Given the description of an element on the screen output the (x, y) to click on. 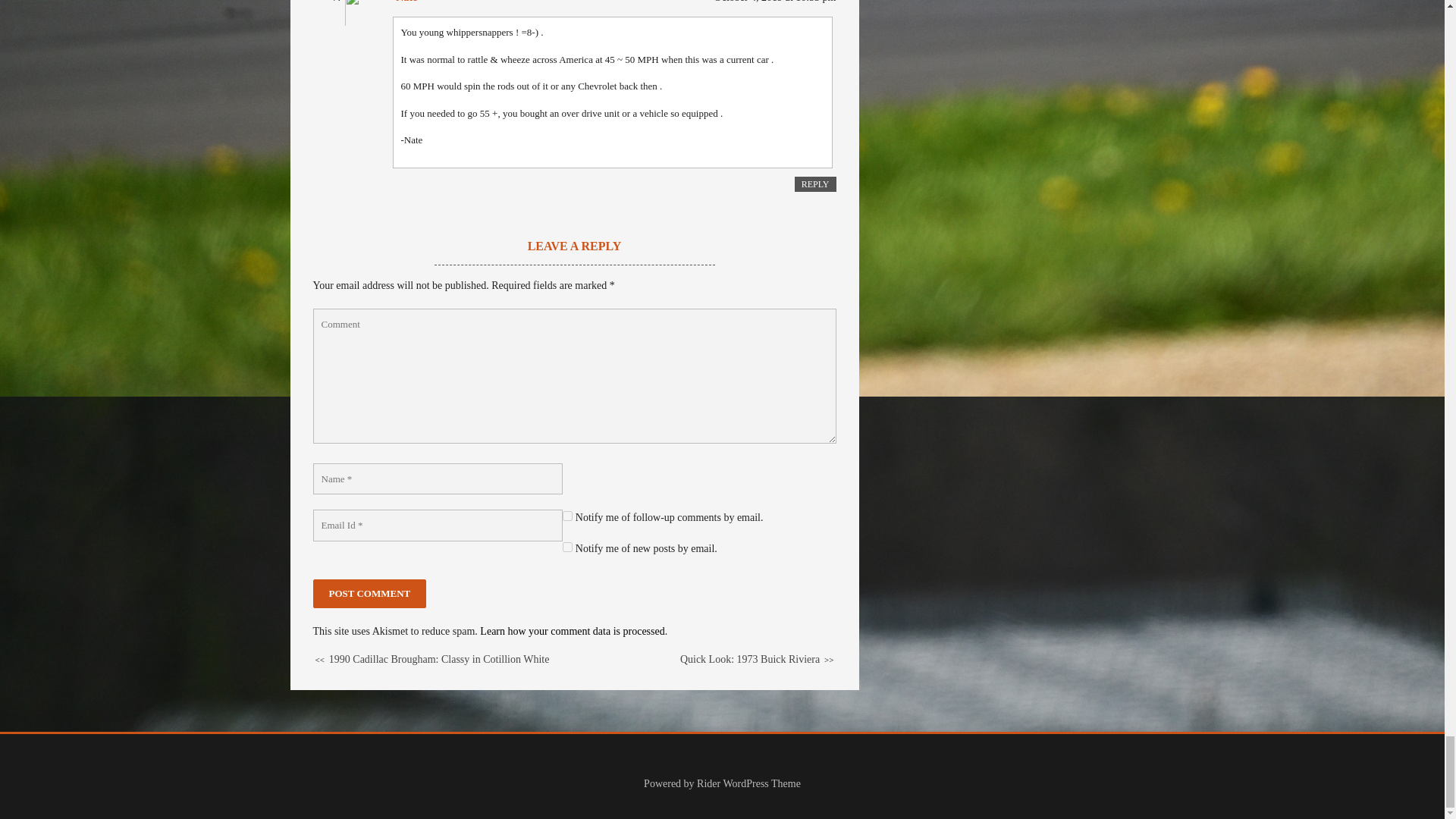
subscribe (567, 515)
Post Comment (369, 593)
Learn how your comment data is processed (571, 631)
October 4, 2019 at 10:53 pm (774, 1)
REPLY (814, 183)
Post Comment (369, 593)
subscribe (567, 547)
